Given the description of an element on the screen output the (x, y) to click on. 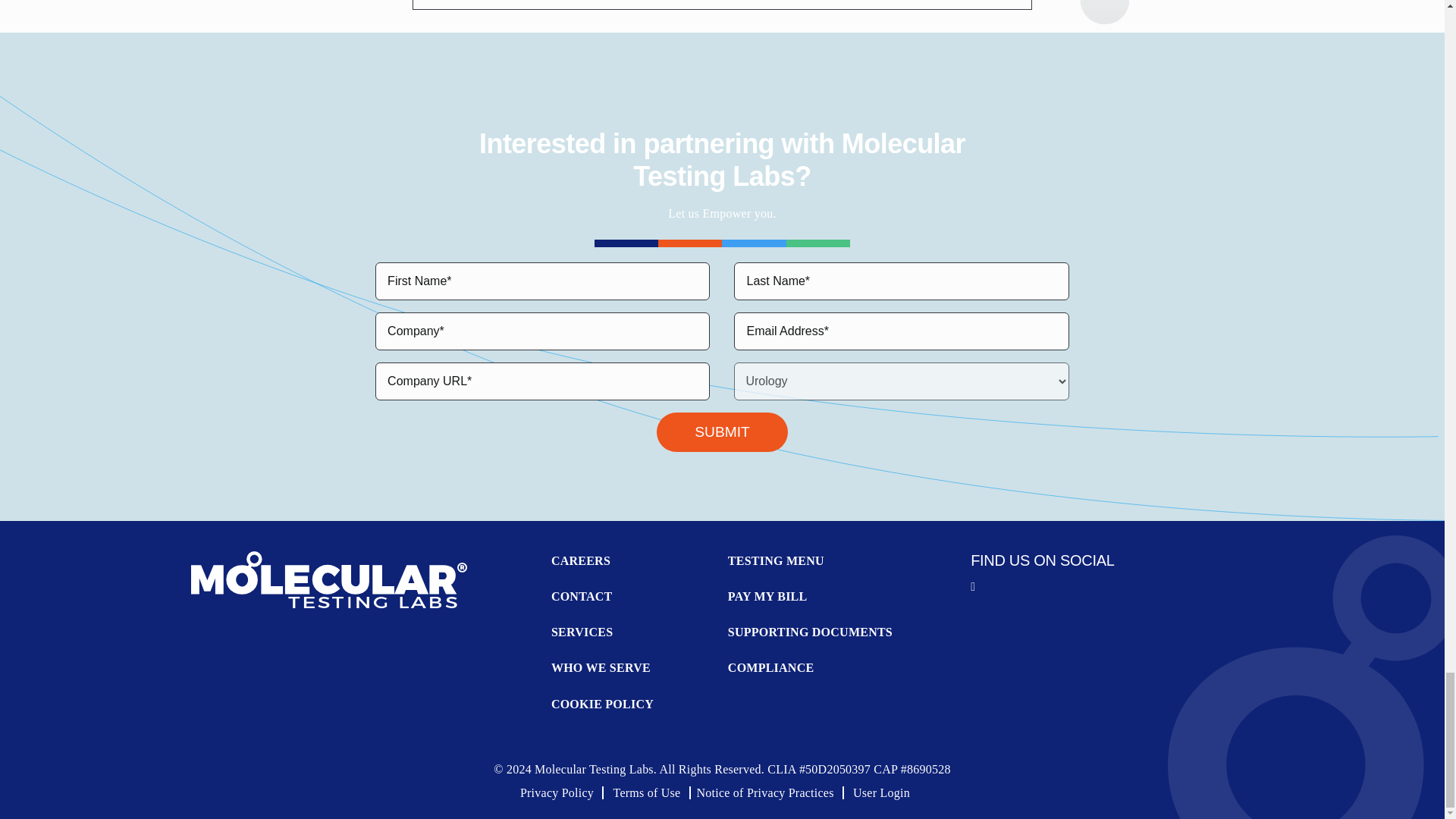
Molecular Testing Labs logo (328, 579)
SUBMIT (721, 432)
